Given the description of an element on the screen output the (x, y) to click on. 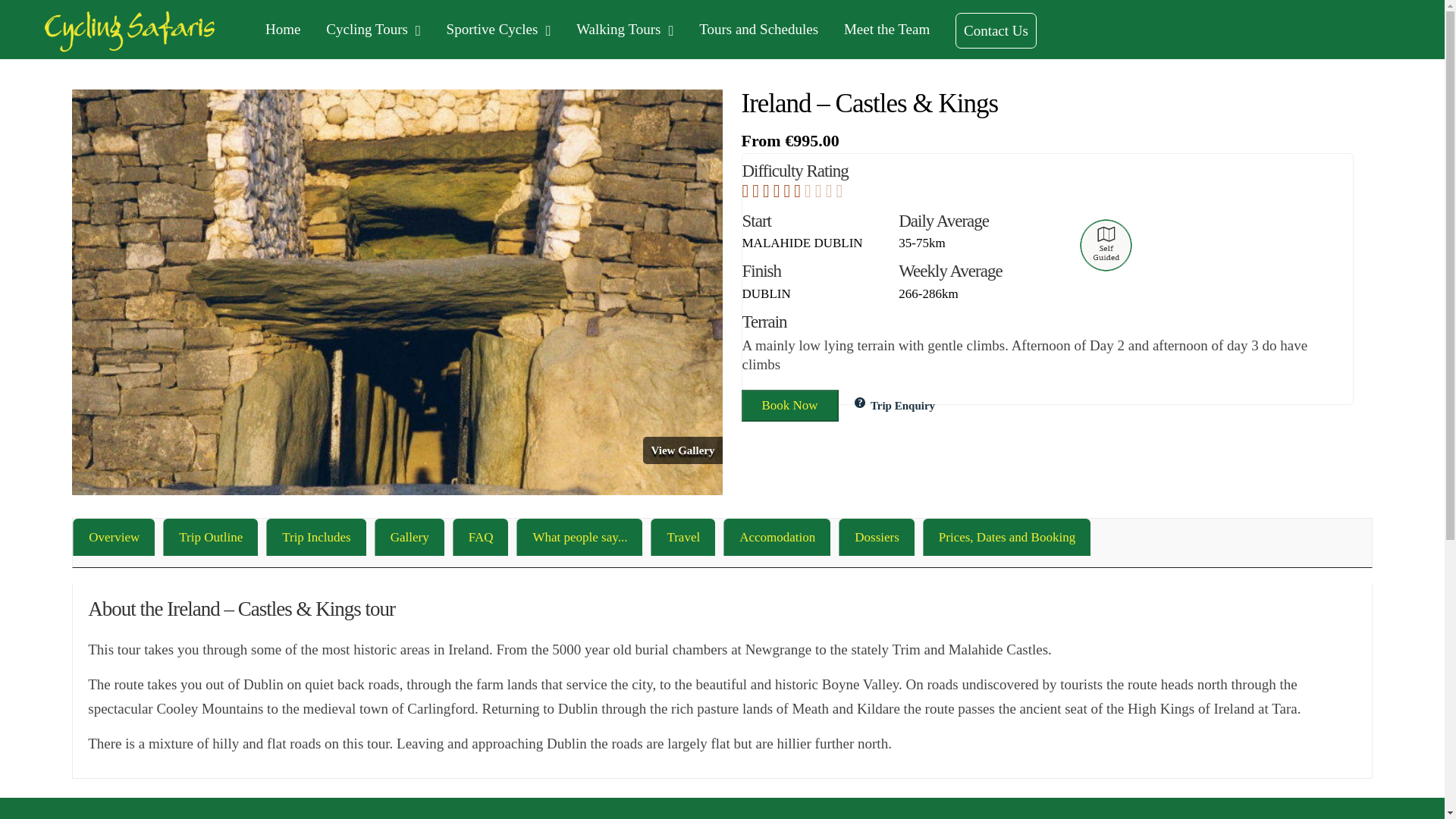
Cycling Tours (373, 29)
Home (281, 28)
